Given the description of an element on the screen output the (x, y) to click on. 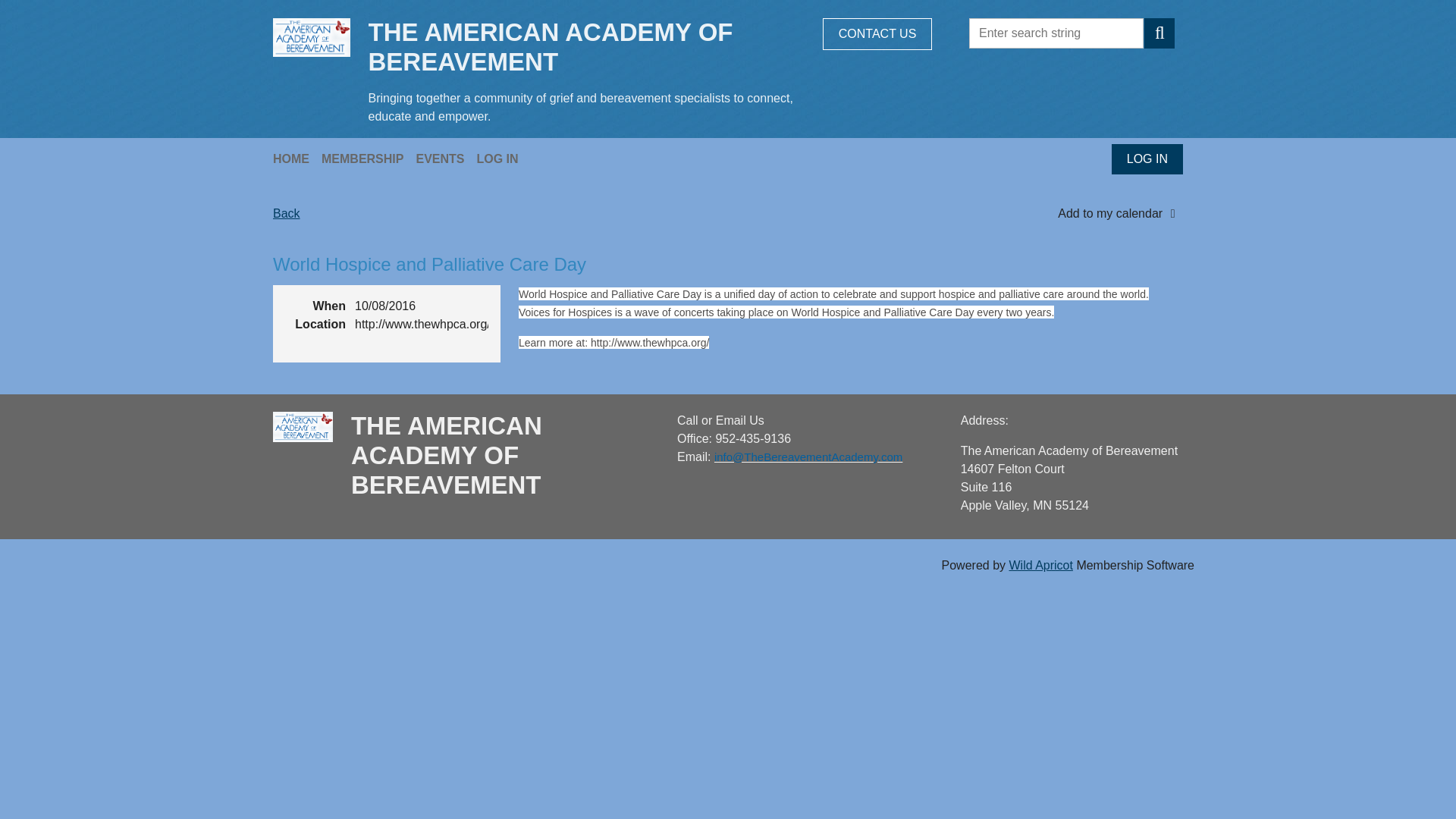
Membership (367, 158)
Search (1159, 33)
HOME (297, 158)
Log In (502, 158)
Log in (1147, 159)
EVENTS (445, 158)
LOG IN (502, 158)
Events (445, 158)
CONTACT US (877, 33)
Back (286, 213)
